Given the description of an element on the screen output the (x, y) to click on. 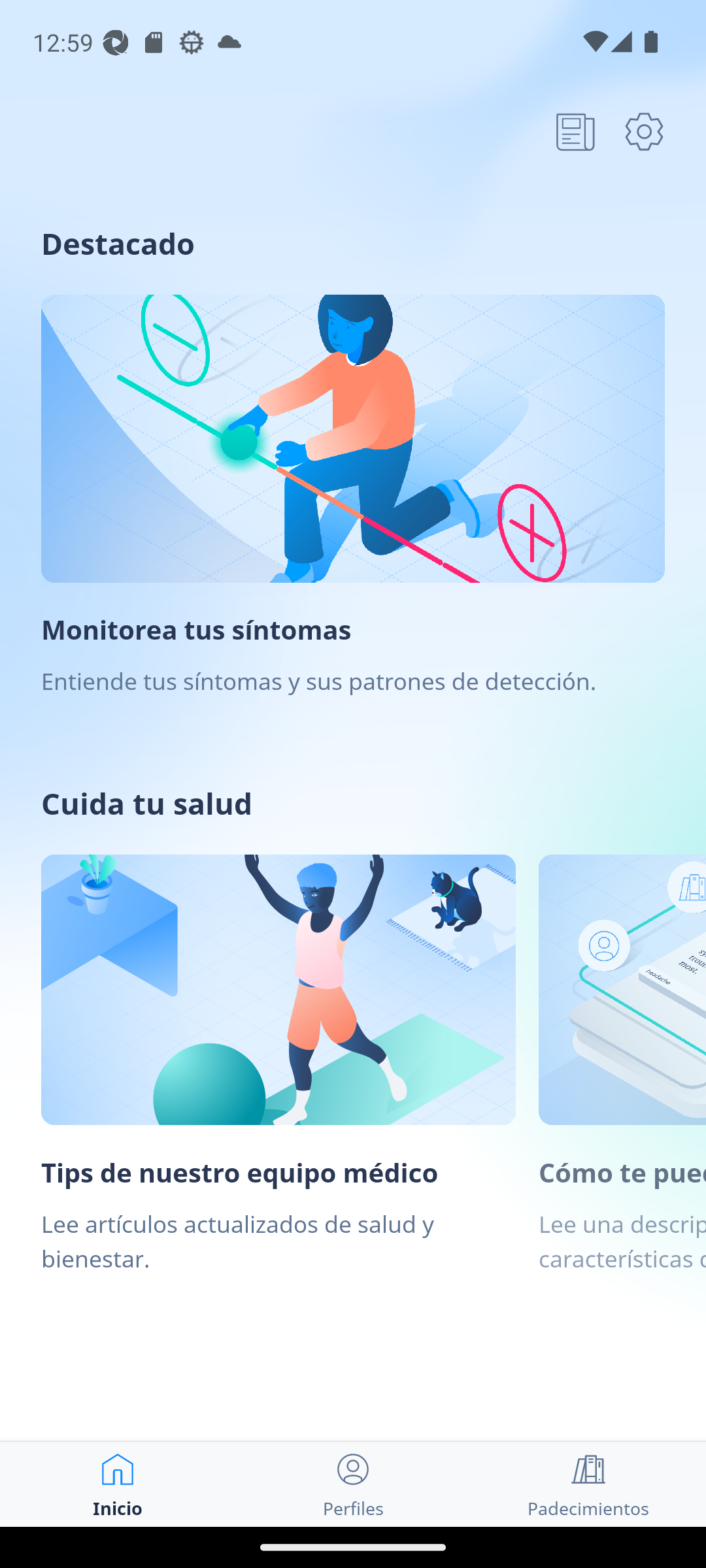
article icon , open articles (574, 131)
settings icon, open settings (644, 131)
Inicio (117, 1484)
Perfiles (352, 1484)
Padecimientos (588, 1484)
